Given the description of an element on the screen output the (x, y) to click on. 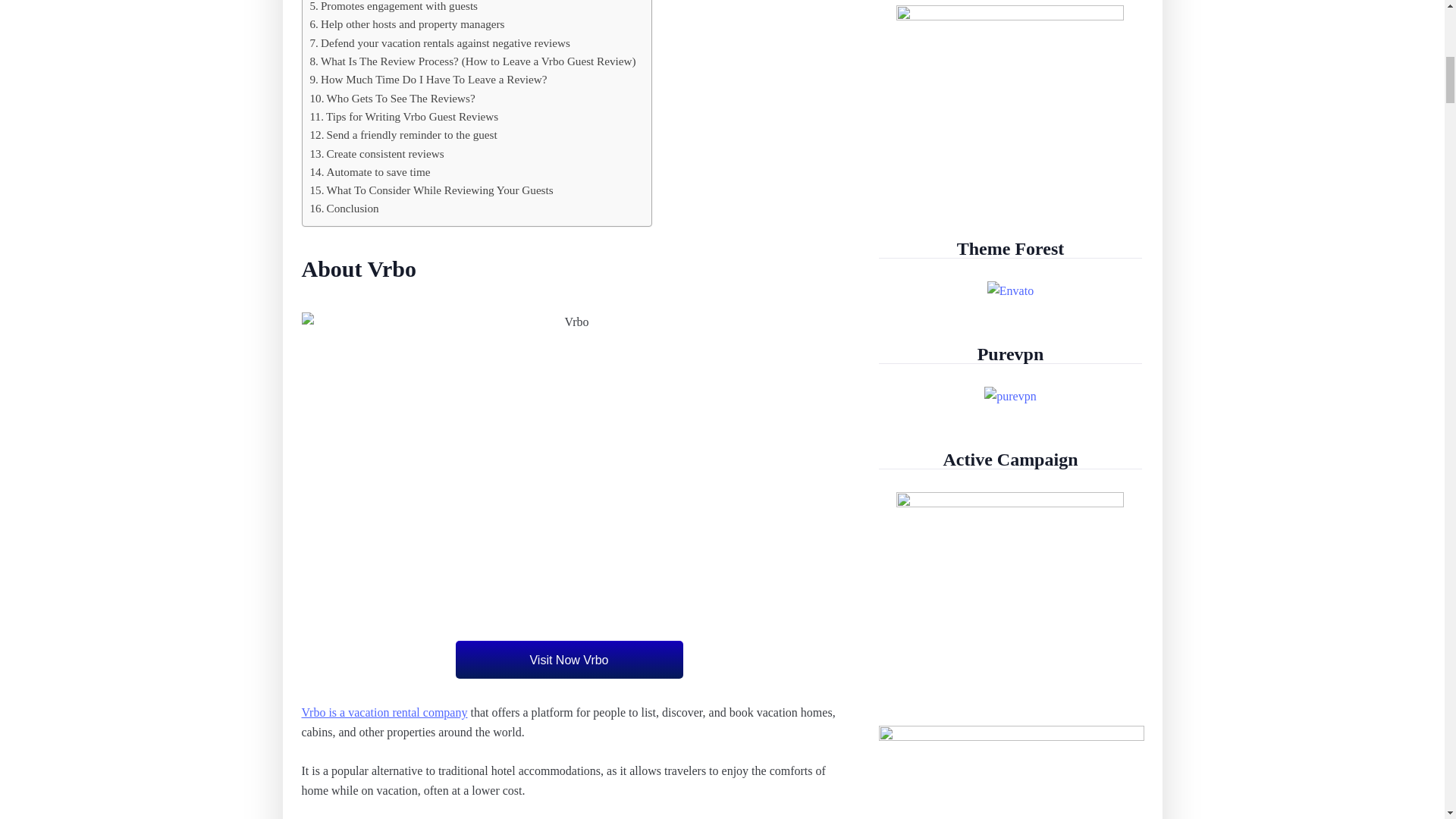
Create consistent reviews (376, 153)
Who Gets To See The Reviews? (391, 98)
Defend your vacation rentals against negative reviews (438, 43)
Vrbo is a vacation rental company (384, 712)
Conclusion (343, 208)
Help other hosts and property managers (405, 24)
Automate to save time (368, 171)
Automate to save time (368, 171)
Conclusion (343, 208)
Send a friendly reminder to the guest (402, 135)
